Given the description of an element on the screen output the (x, y) to click on. 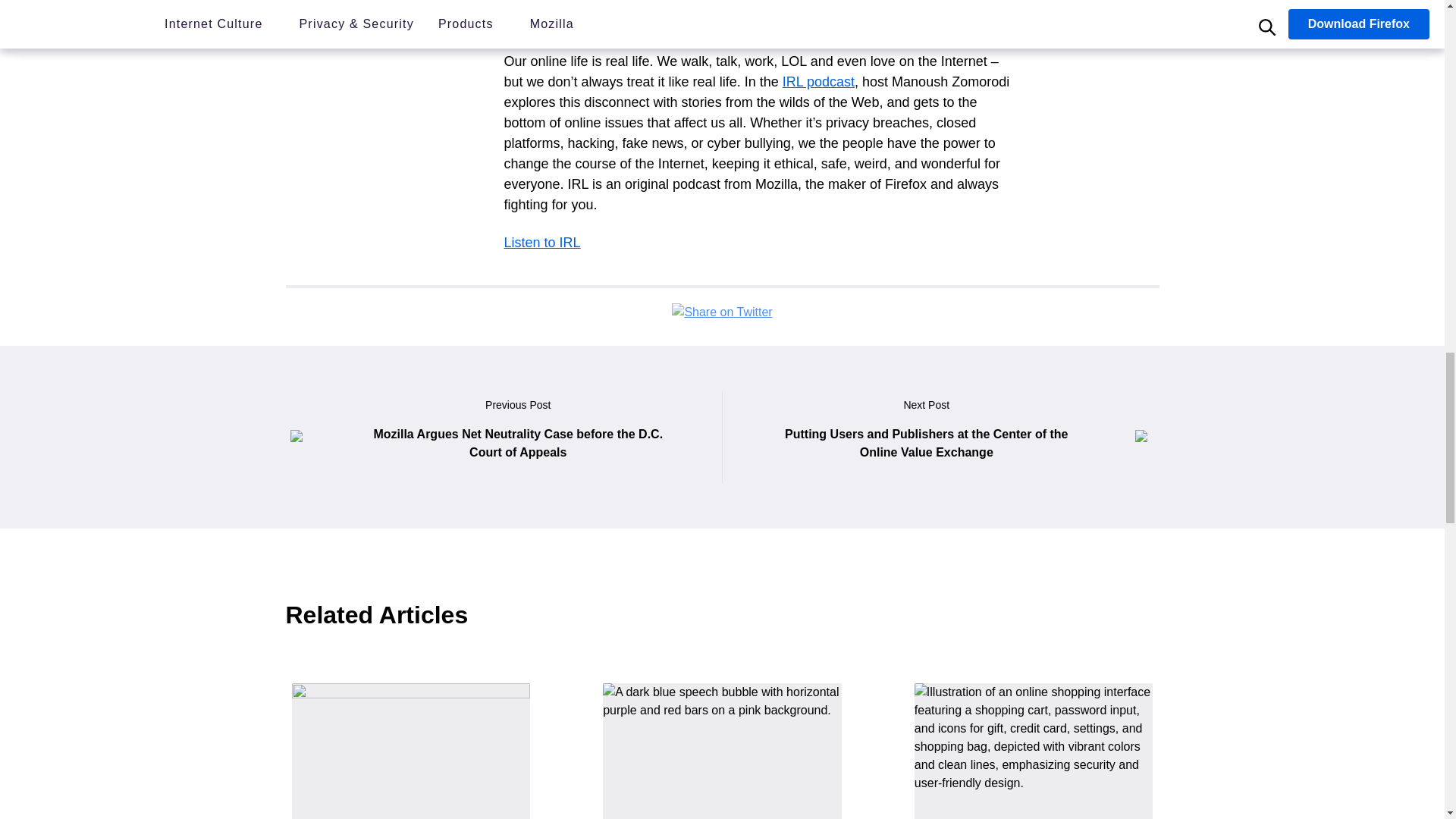
Listen to IRL (541, 242)
IRL podcast (818, 81)
